Given the description of an element on the screen output the (x, y) to click on. 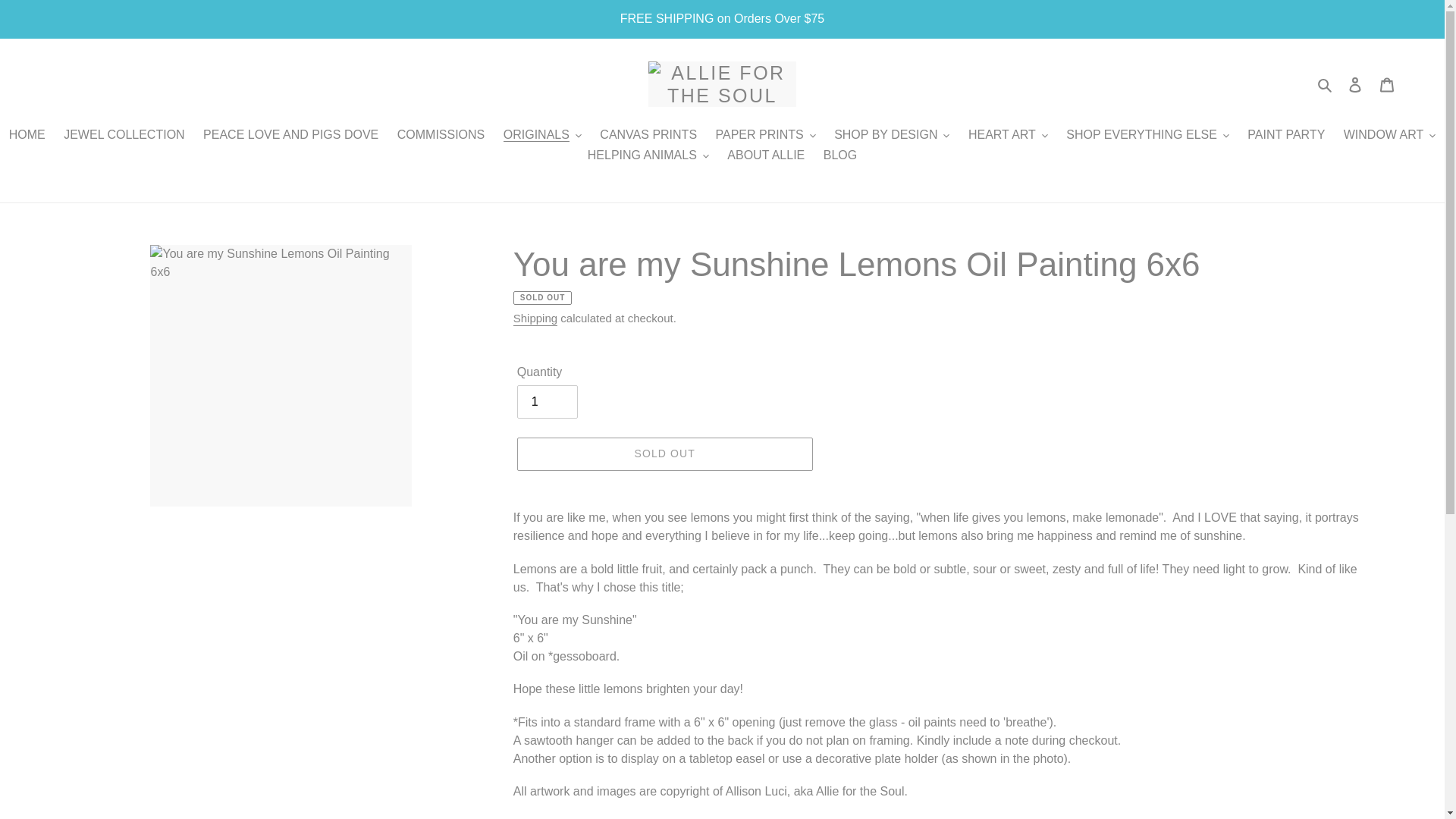
Log in (1355, 83)
Search (1326, 84)
1 (547, 401)
Cart (1387, 83)
